Given the description of an element on the screen output the (x, y) to click on. 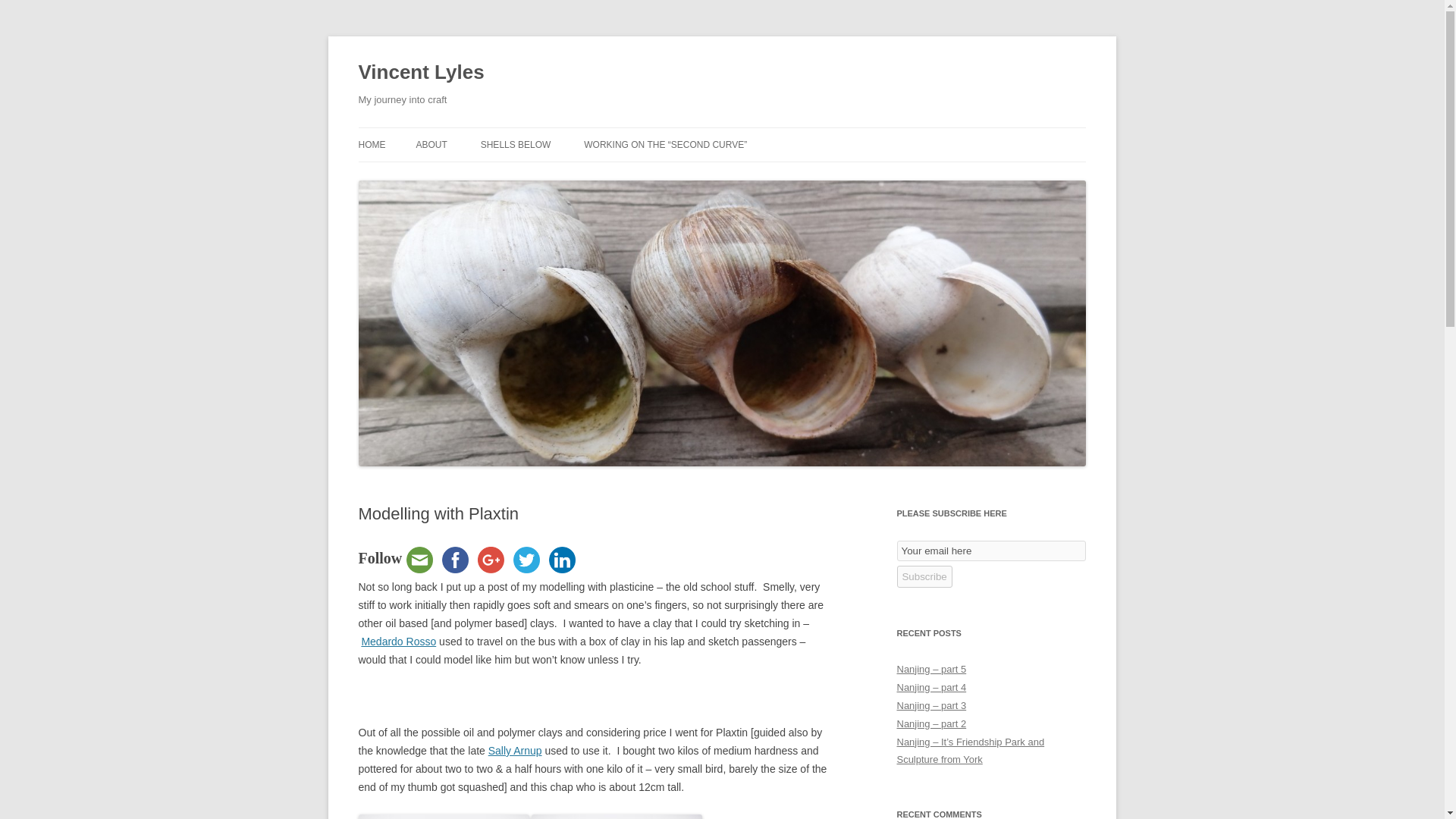
SHELLS BELOW (515, 144)
Email (419, 560)
Twitter (526, 560)
Sally Arnup (514, 750)
Medardo Rosso (398, 641)
Subscribe (924, 576)
LinkedIn (561, 560)
Vincent Lyles (420, 72)
